Given the description of an element on the screen output the (x, y) to click on. 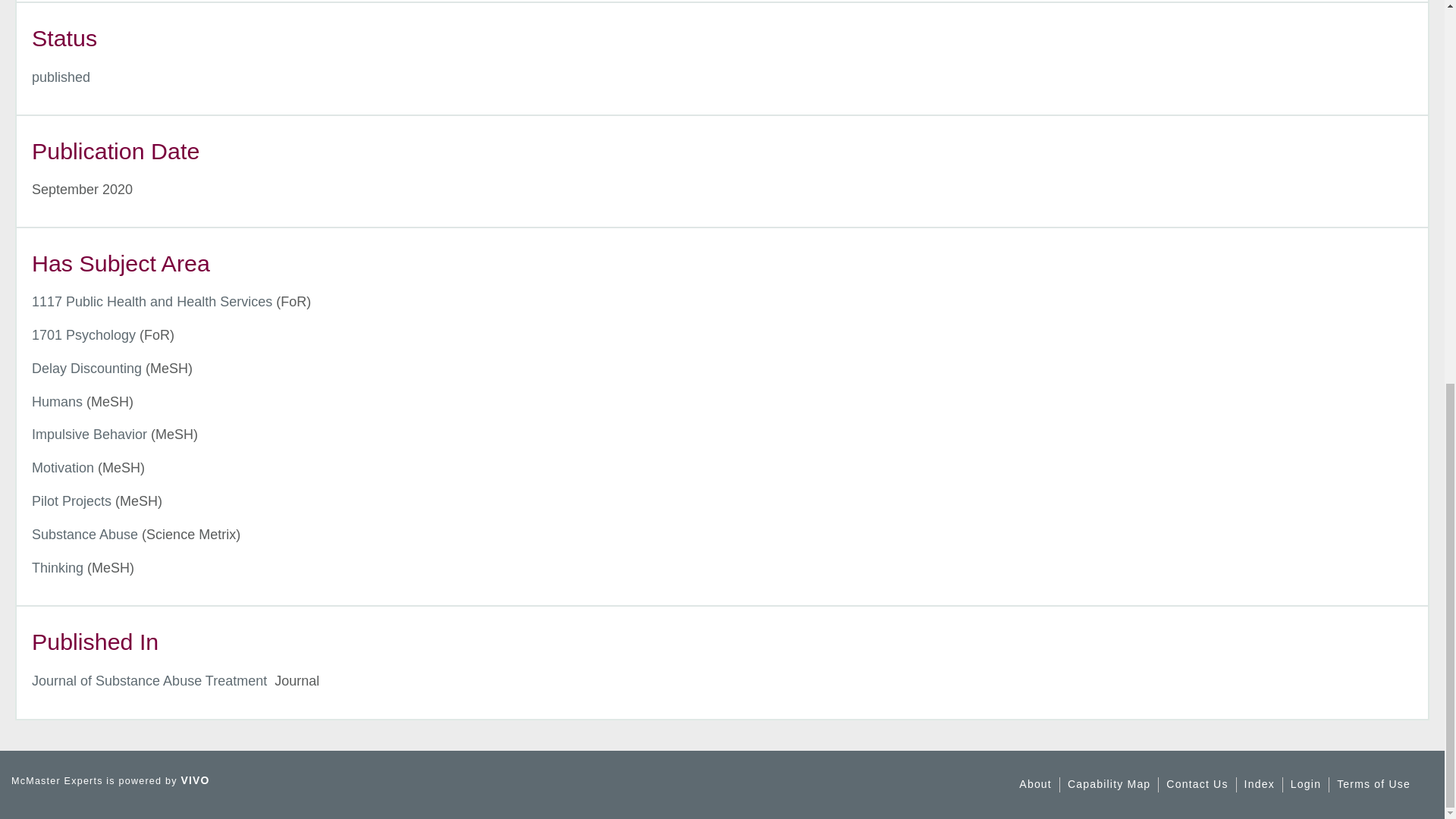
Impulsive Behavior (89, 434)
Pilot Projects (72, 500)
1701 Psychology (83, 335)
name (61, 77)
concept name (89, 434)
Capability Map (1108, 784)
1117 Public Health and Health Services (152, 301)
Humans (57, 401)
Substance Abuse (85, 534)
Delay Discounting (86, 368)
Index (1259, 784)
published (61, 77)
Journal of Substance Abuse Treatment (149, 680)
About (1035, 784)
Motivation (63, 467)
